Given the description of an element on the screen output the (x, y) to click on. 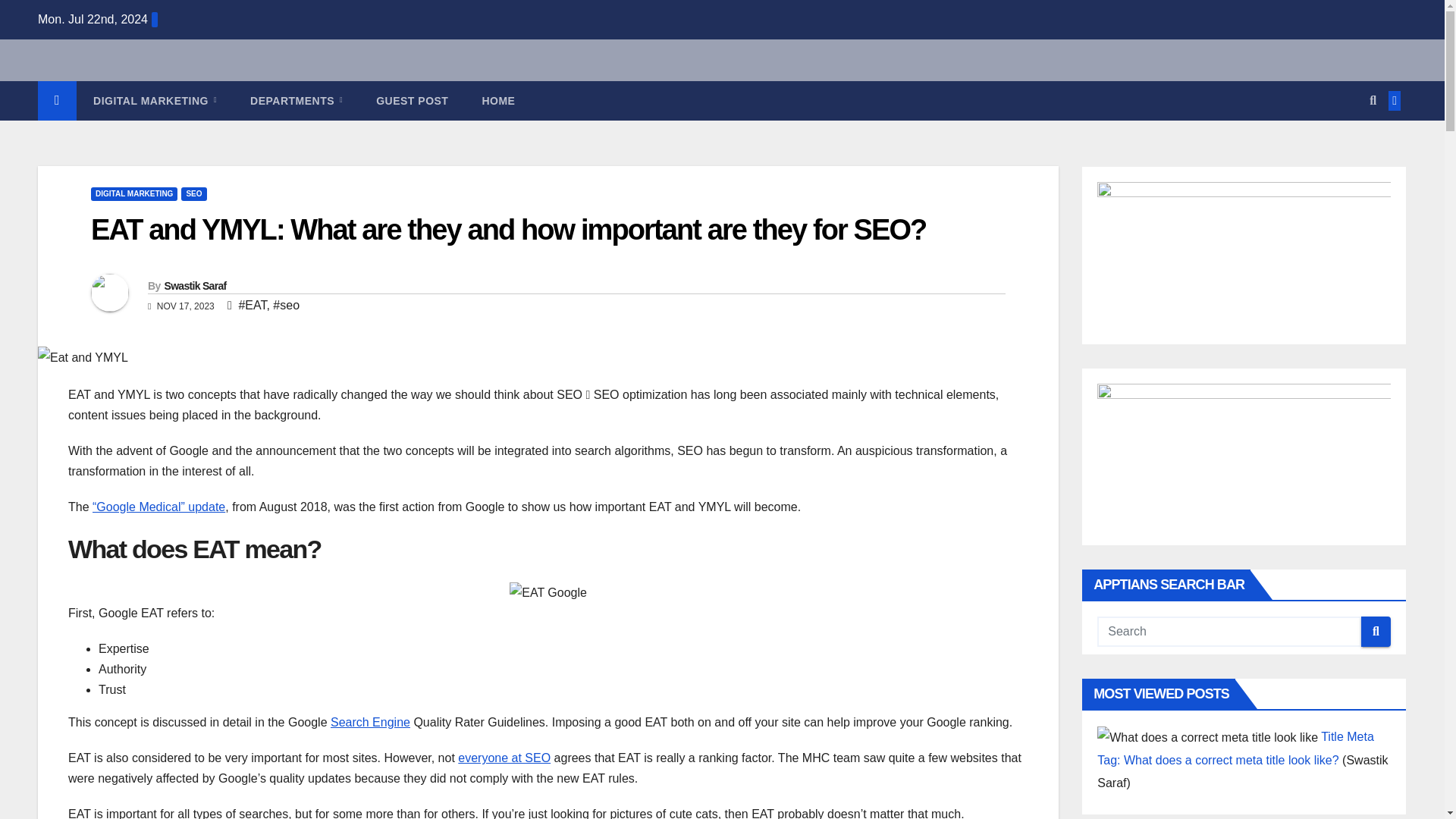
HOME (497, 100)
DIGITAL MARKETING (133, 193)
GUEST POST (411, 100)
SEO (193, 193)
Guest Post (411, 100)
Home (497, 100)
Digital Marketing (154, 100)
DIGITAL MARKETING (154, 100)
Search Engine (370, 721)
Swastik Saraf (194, 285)
DEPARTMENTS (295, 100)
Departments (295, 100)
everyone at SEO (504, 757)
